Given the description of an element on the screen output the (x, y) to click on. 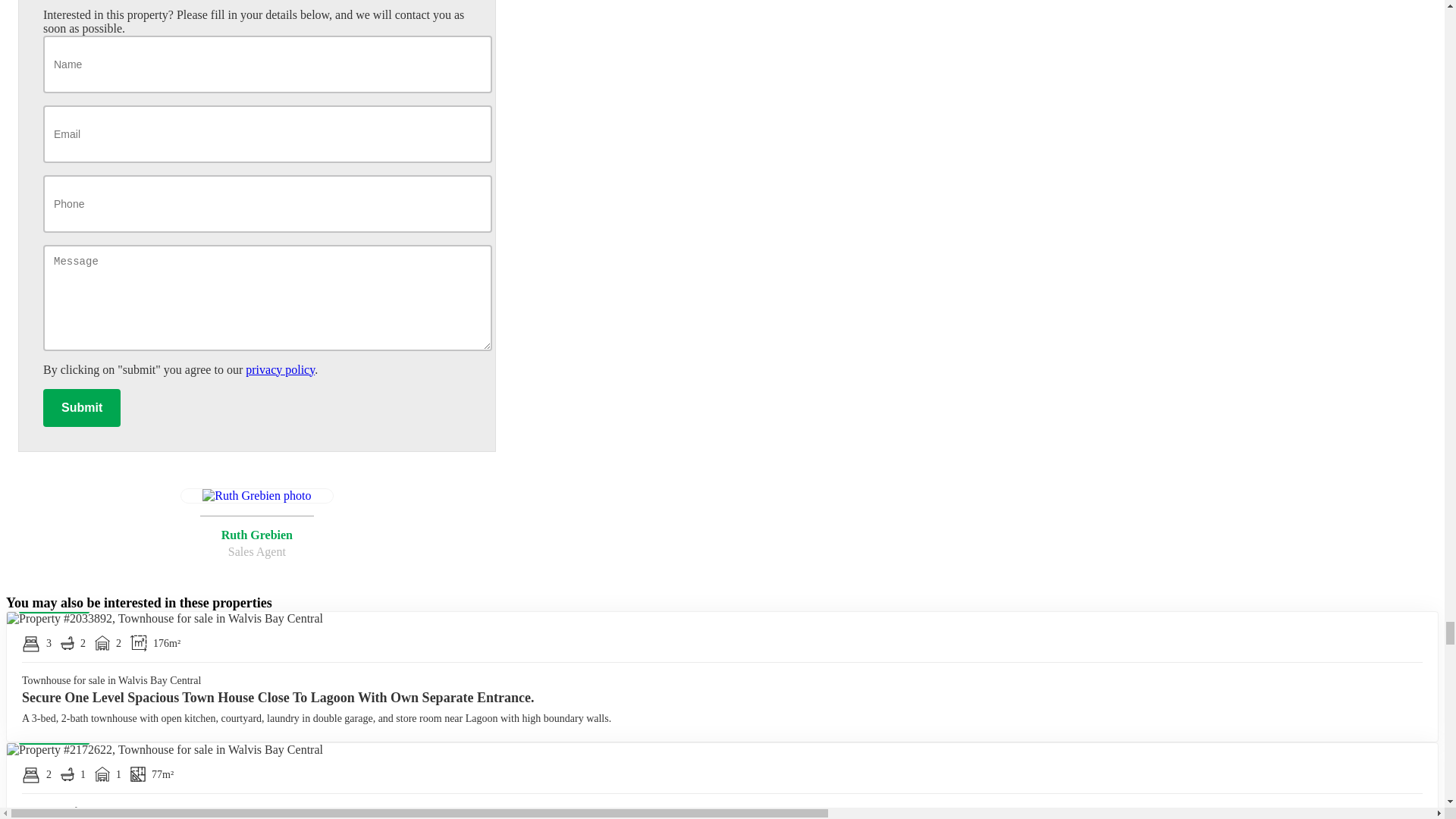
Know more about Ruth Grebien (256, 523)
privacy policy (256, 523)
Submit (280, 369)
Submit (81, 407)
